Given the description of an element on the screen output the (x, y) to click on. 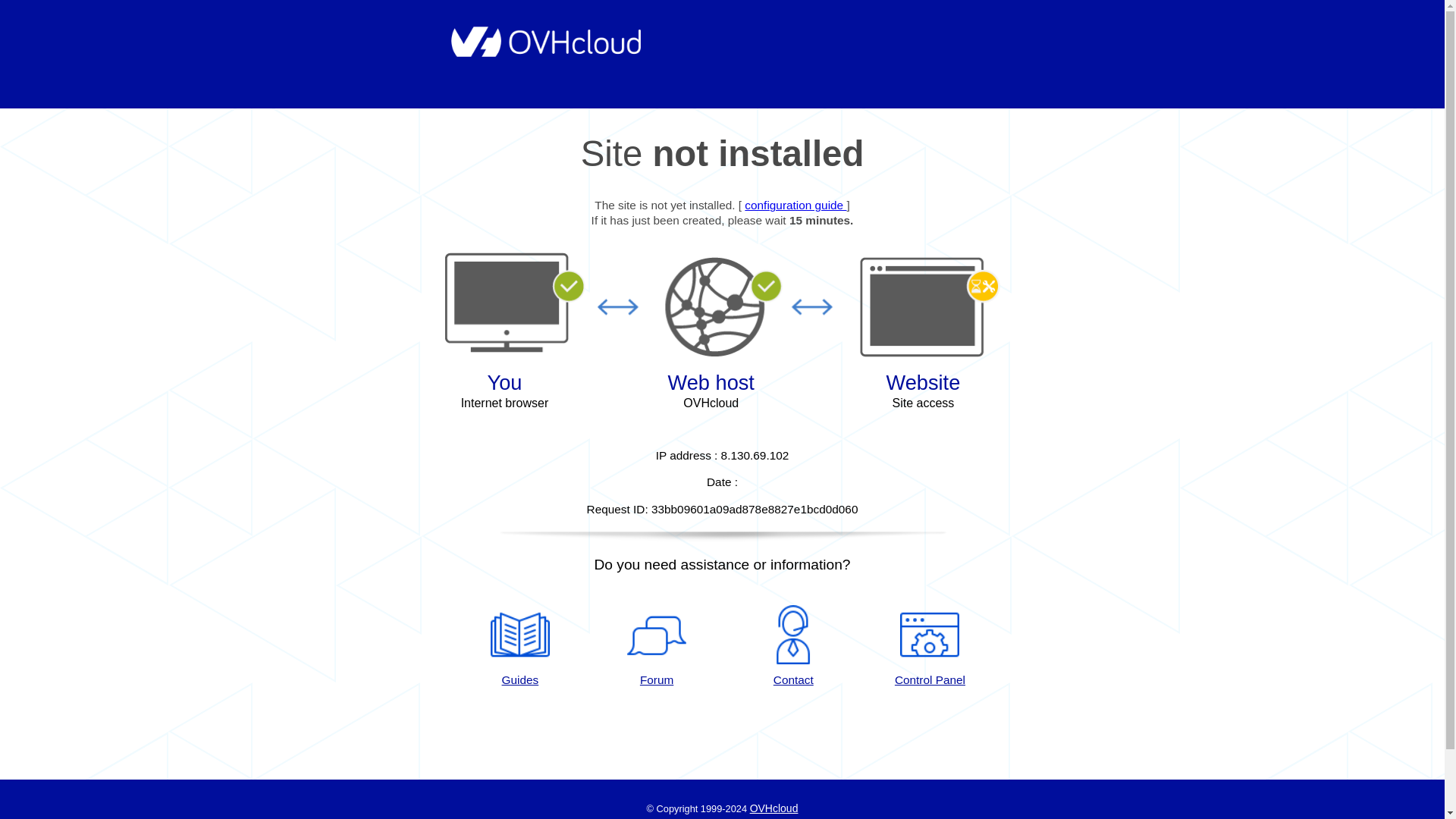
Control Panel (930, 646)
Control Panel (930, 646)
Guides (519, 646)
configuration guide (794, 205)
OVHcloud (773, 808)
Guides (519, 646)
Contact (793, 646)
Forum (656, 646)
Forum (656, 646)
Guides (794, 205)
